Given the description of an element on the screen output the (x, y) to click on. 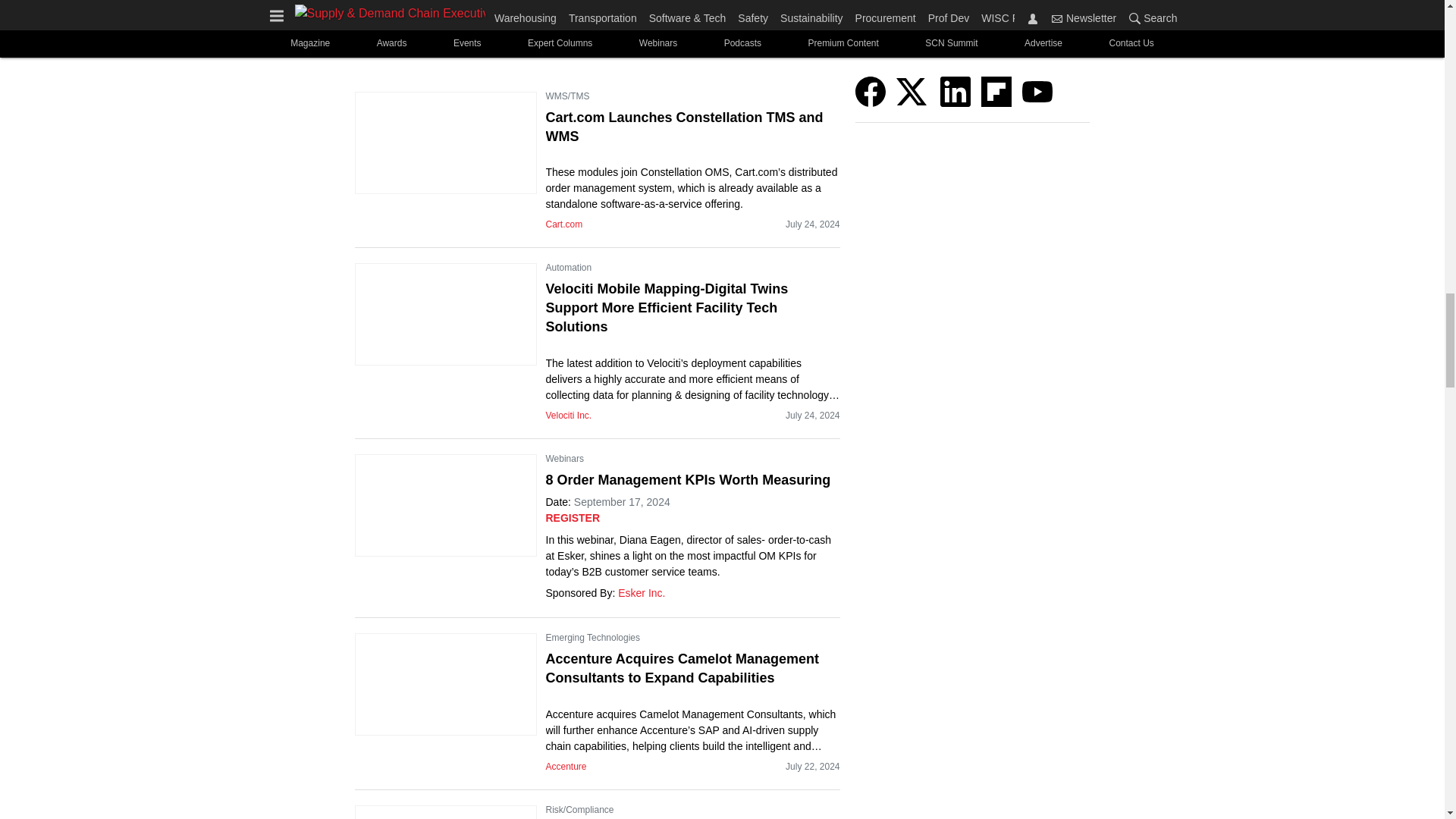
Twitter X icon (911, 91)
Facebook icon (870, 91)
YouTube icon (1037, 91)
Flipboard icon (996, 91)
LinkedIn icon (955, 91)
Webinars (564, 458)
